Given the description of an element on the screen output the (x, y) to click on. 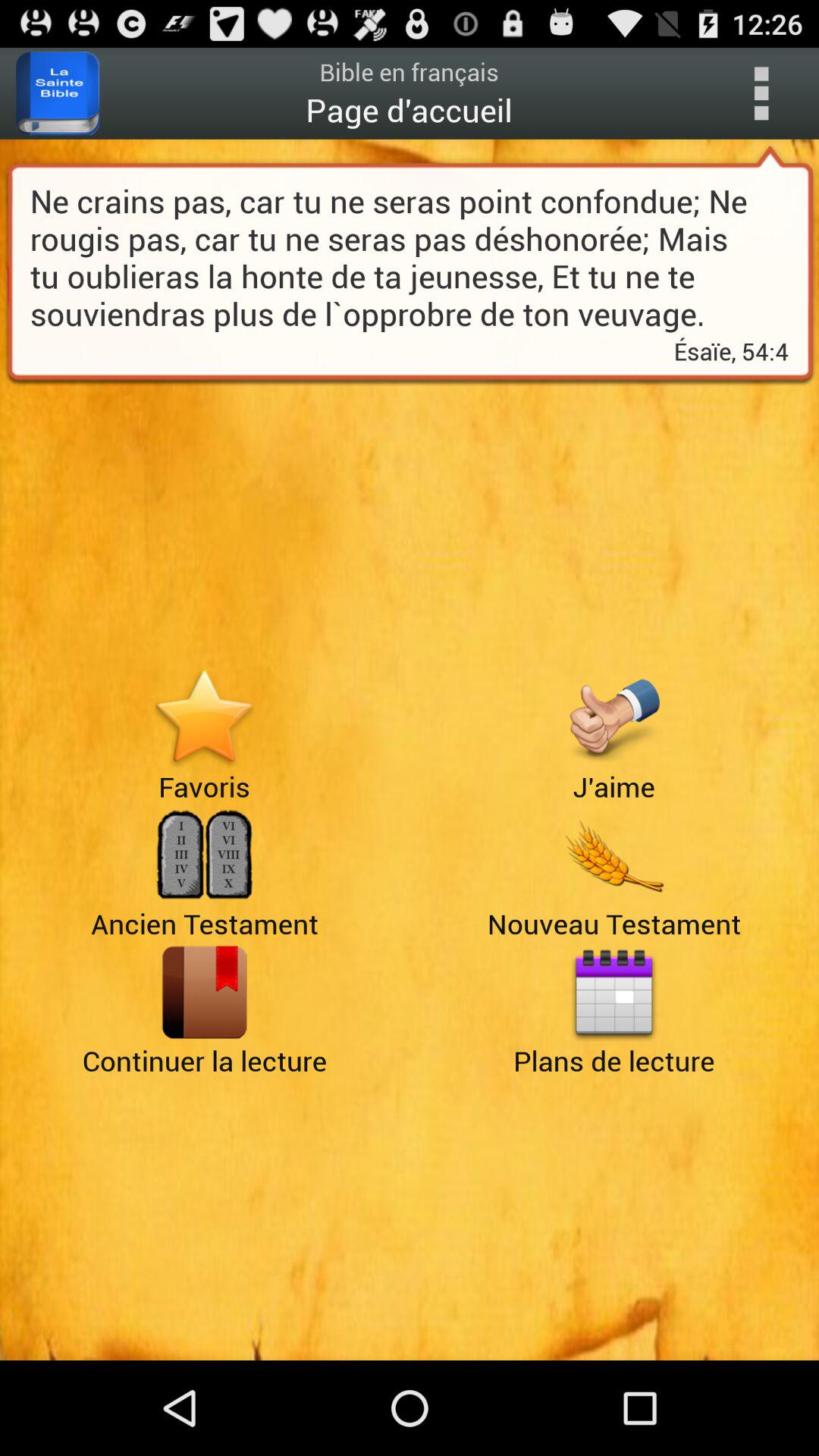
add to calendar (613, 991)
